Given the description of an element on the screen output the (x, y) to click on. 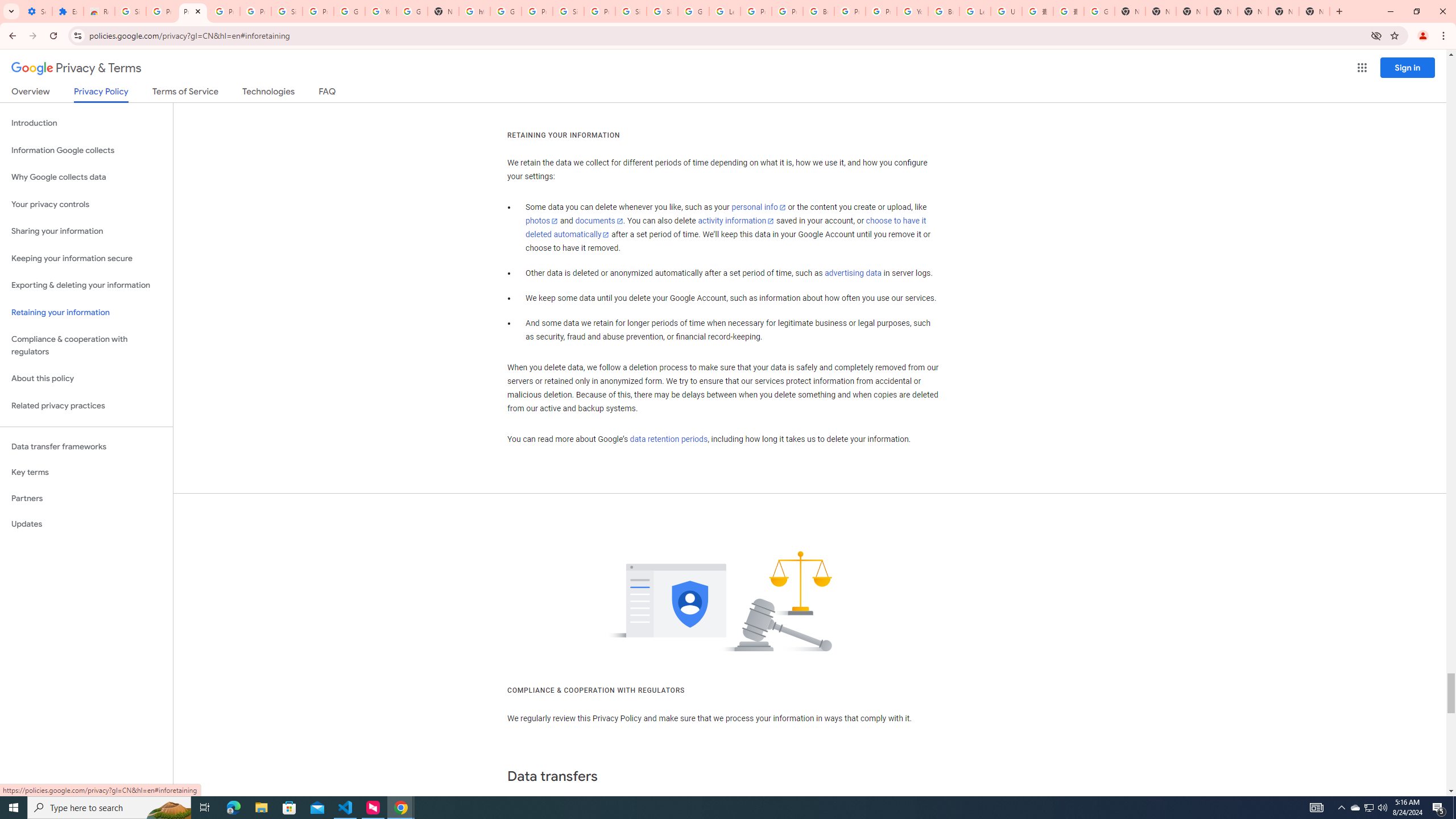
Sign in - Google Accounts (662, 11)
photos (542, 221)
Sign in - Google Accounts (130, 11)
https://scholar.google.com/ (474, 11)
Your privacy controls (86, 204)
